Given the description of an element on the screen output the (x, y) to click on. 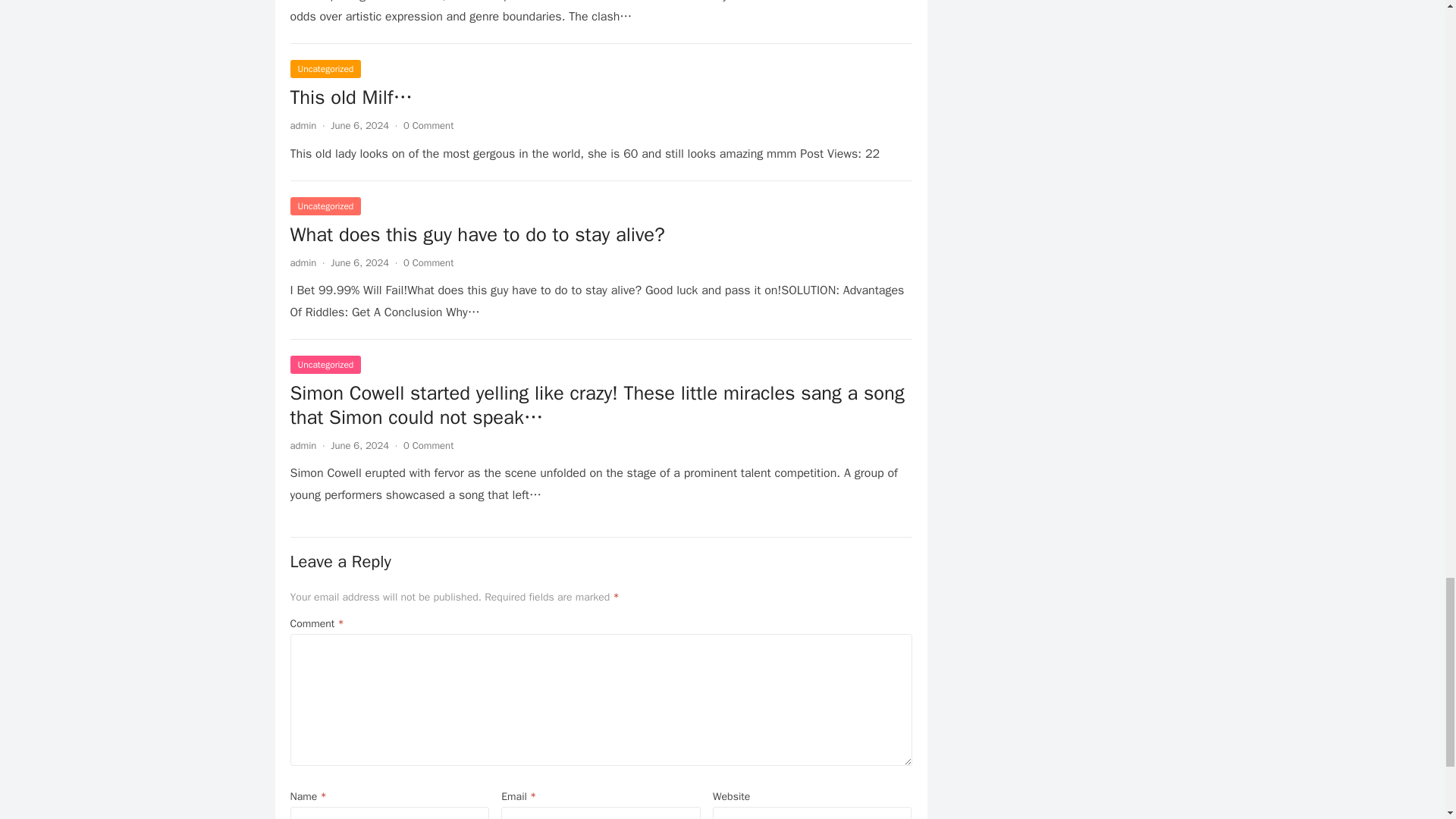
Posts by admin (302, 262)
Posts by admin (302, 445)
Posts by admin (302, 124)
admin (302, 124)
0 Comment (427, 445)
admin (302, 262)
Uncategorized (325, 68)
What does this guy have to do to stay alive? (476, 234)
0 Comment (427, 262)
admin (302, 445)
